Given the description of an element on the screen output the (x, y) to click on. 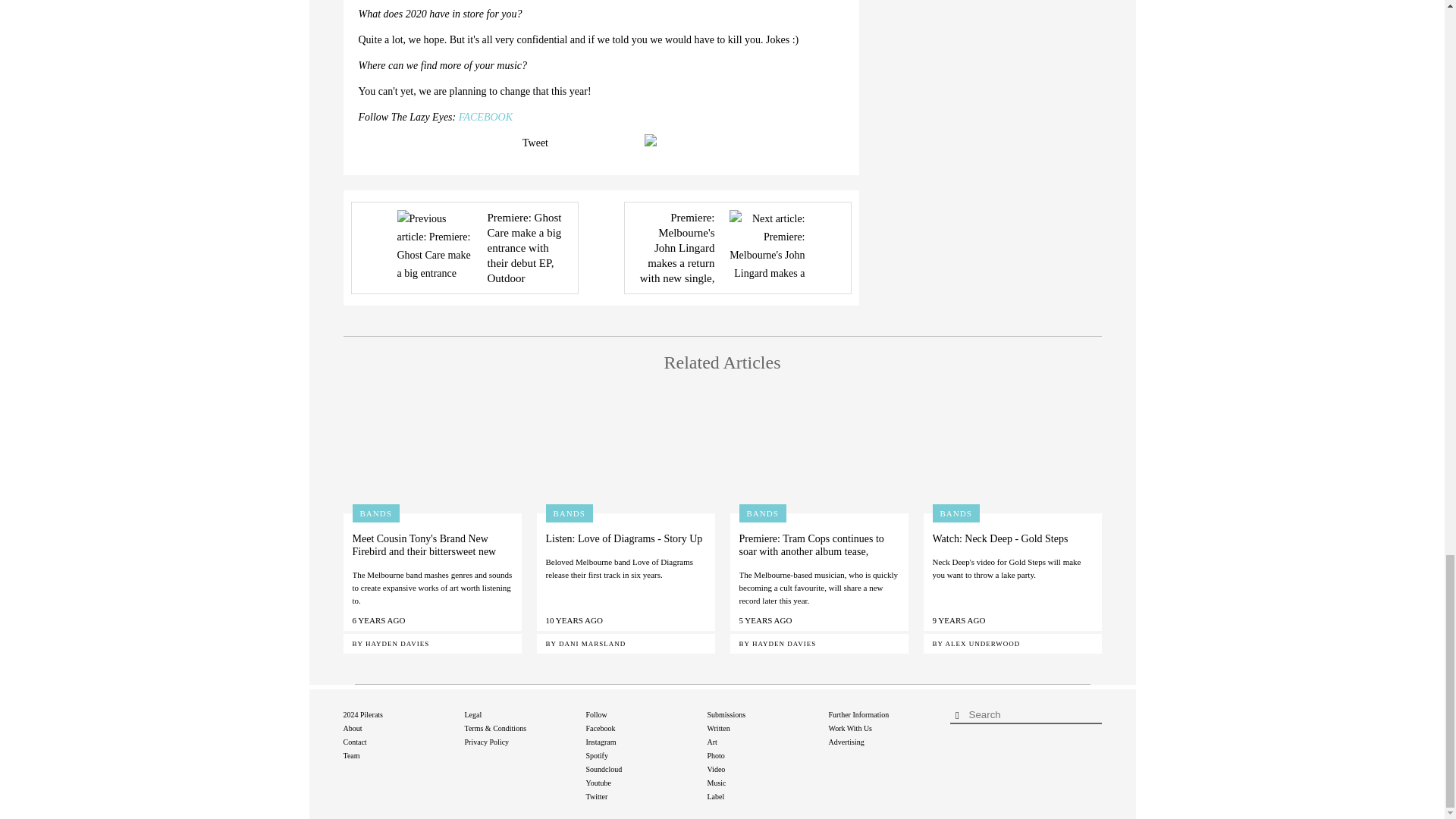
Share via email (654, 140)
